Given the description of an element on the screen output the (x, y) to click on. 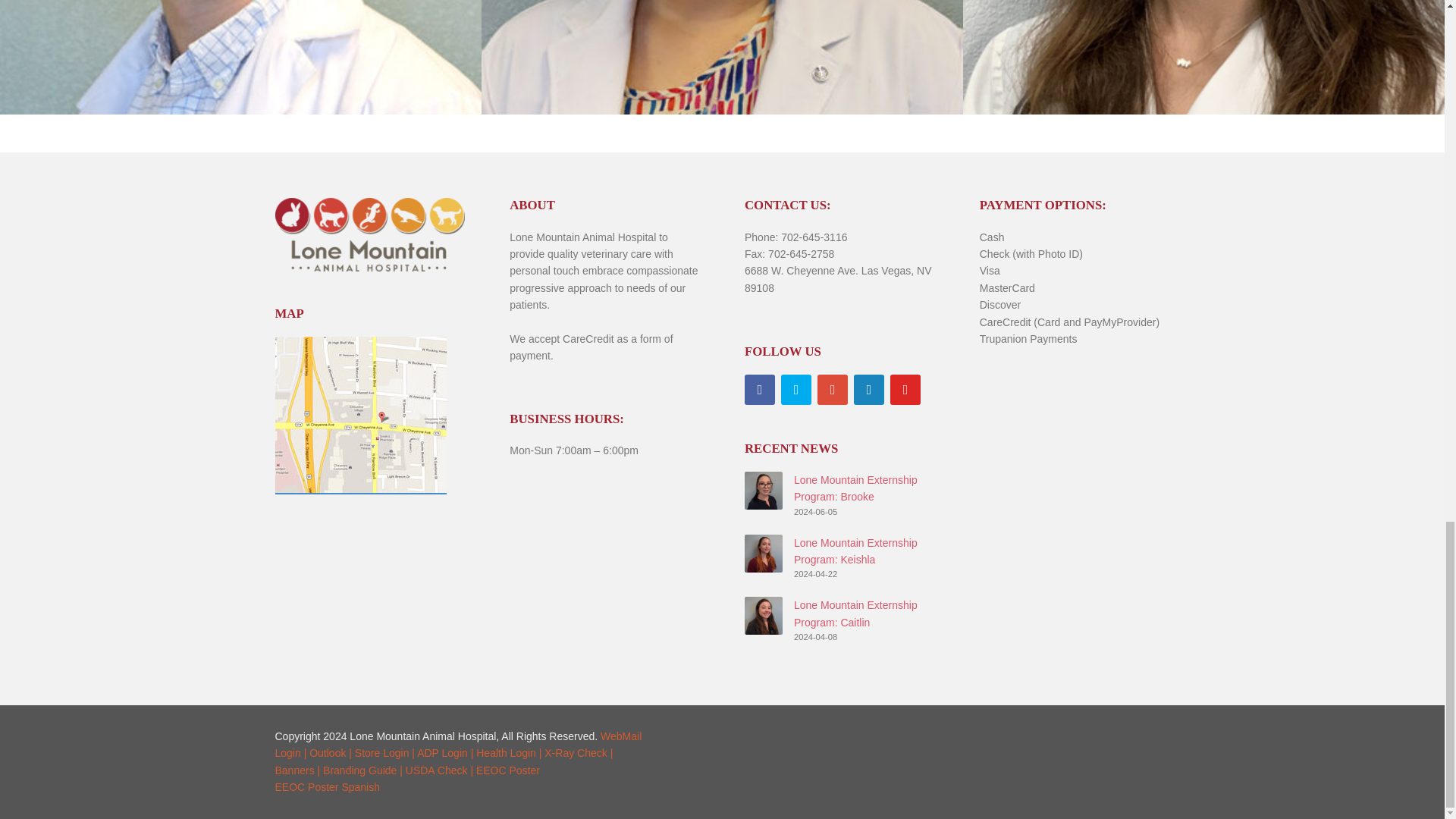
YouTube (904, 389)
Twitter (795, 389)
LinkedIn (868, 389)
Facebook (759, 389)
